Given the description of an element on the screen output the (x, y) to click on. 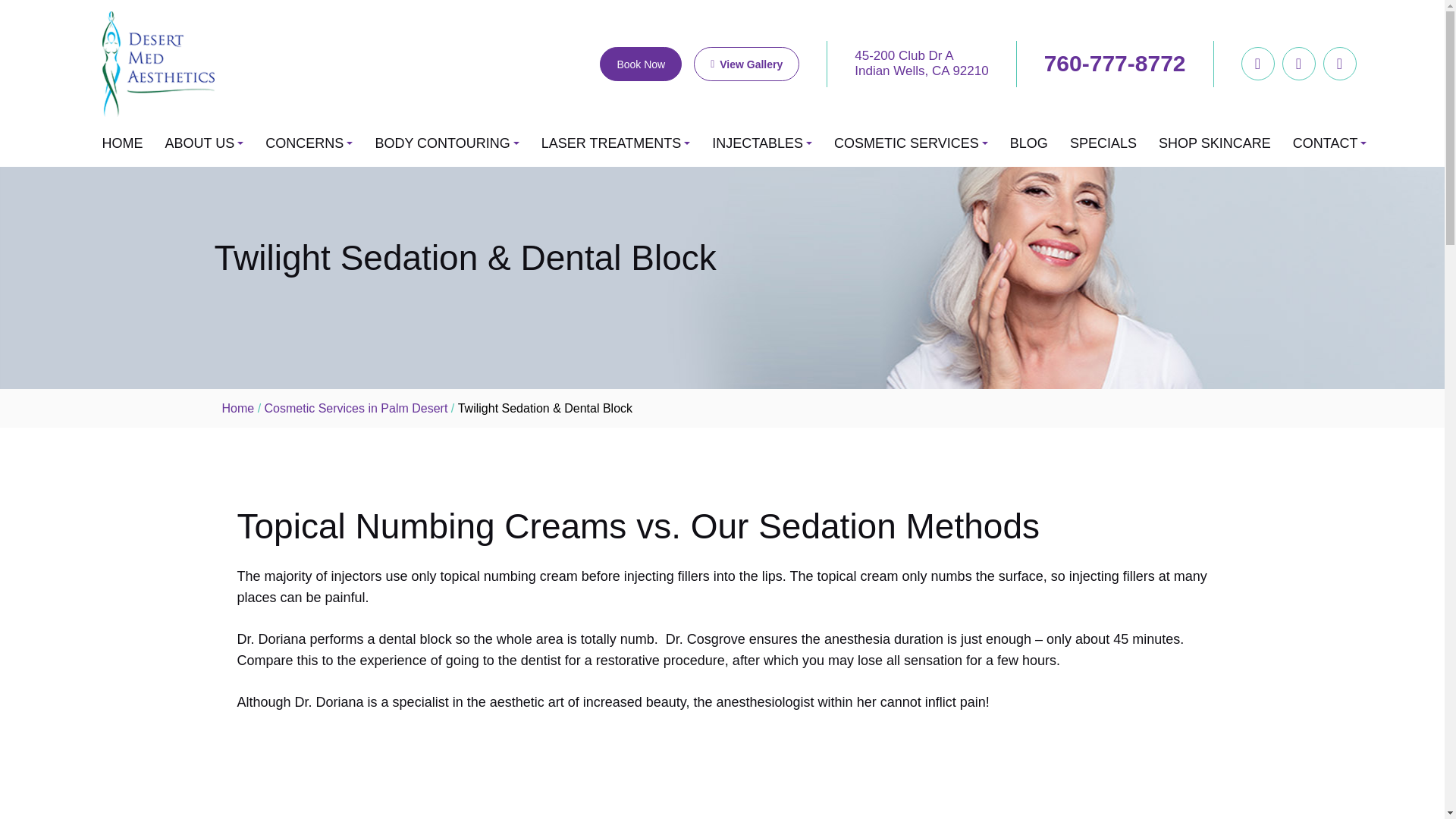
ABOUT US (199, 143)
BODY CONTOURING (441, 143)
Book Now (640, 63)
CONCERNS (303, 143)
View Gallery (746, 63)
760-777-8772 (1114, 63)
LASER TREATMENTS (611, 143)
HOME (121, 143)
